Given the description of an element on the screen output the (x, y) to click on. 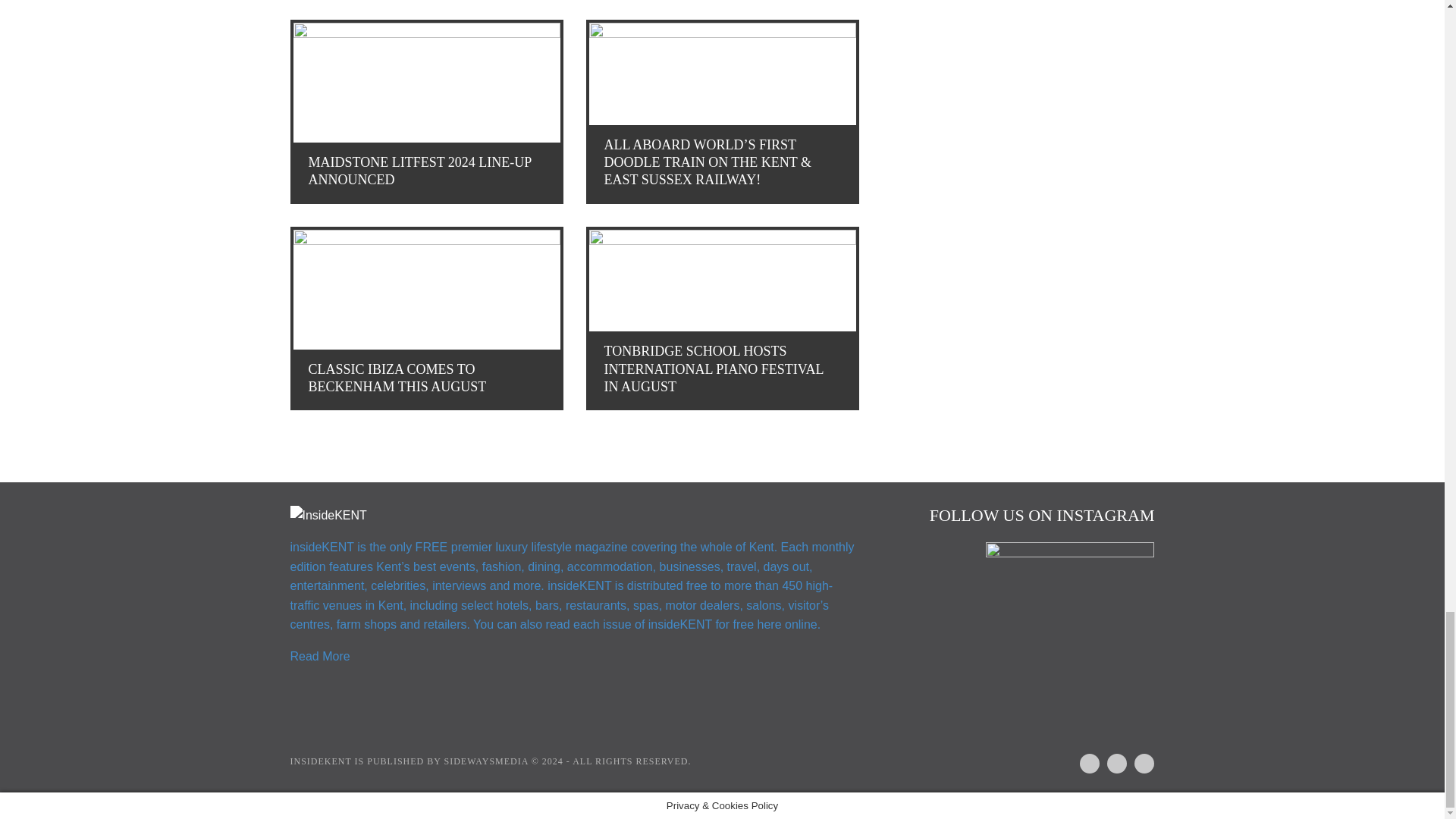
MAIDSTONE LITFEST 2024 LINE-UP ANNOUNCED (425, 111)
Instagram (1110, 760)
Twitter (1138, 760)
Facebook (1082, 760)
